Given the description of an element on the screen output the (x, y) to click on. 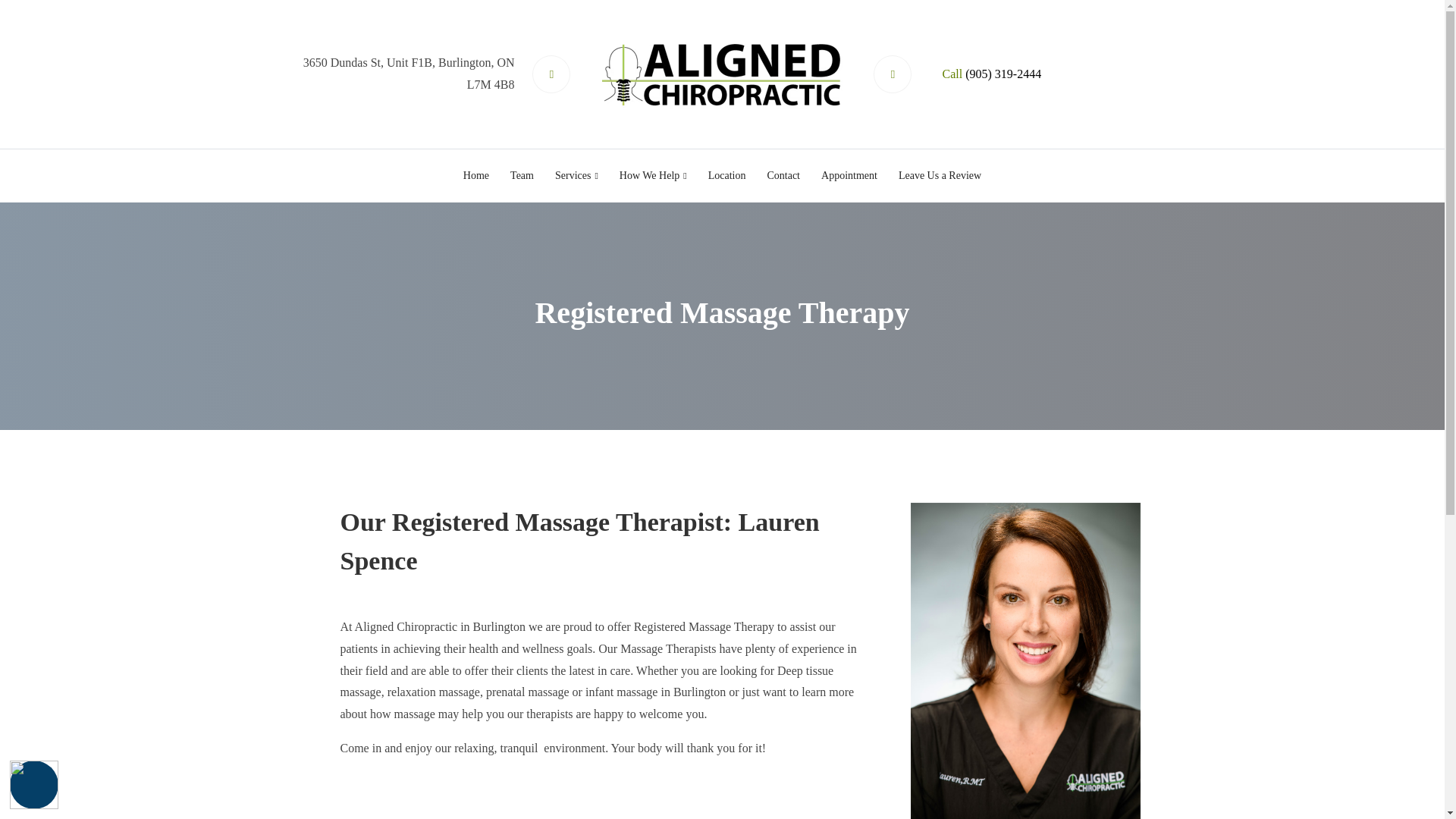
How We Help (652, 175)
Team (521, 175)
Contact (783, 175)
Home (475, 175)
Location (726, 175)
Accessibility Menu (34, 784)
Leave Us a Review (939, 175)
Services (576, 175)
Appointment (849, 175)
